Given the description of an element on the screen output the (x, y) to click on. 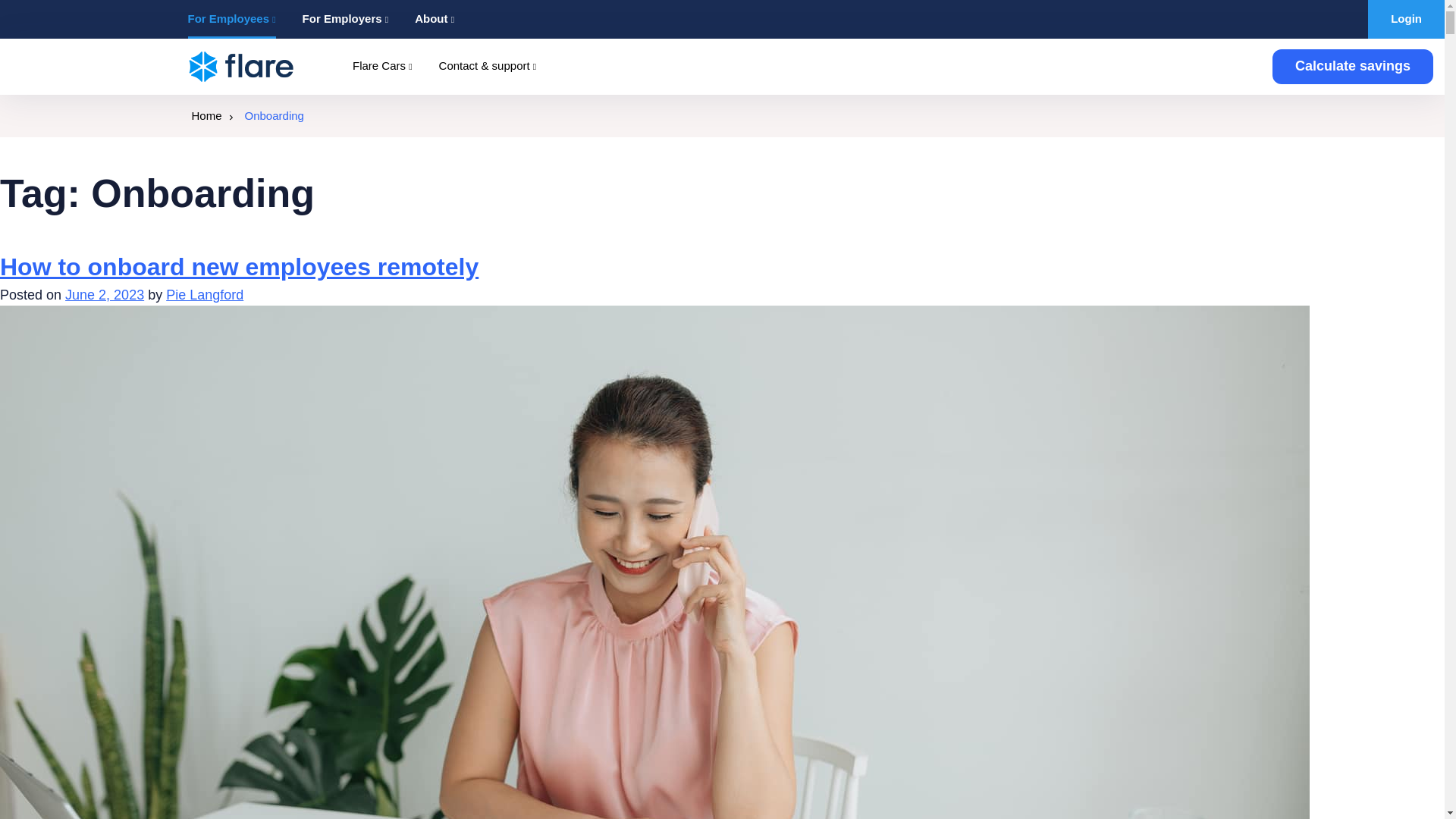
For Employers (345, 19)
Calculate savings (1352, 66)
About (434, 19)
For Employees (231, 19)
Flare Cars (382, 66)
